Given the description of an element on the screen output the (x, y) to click on. 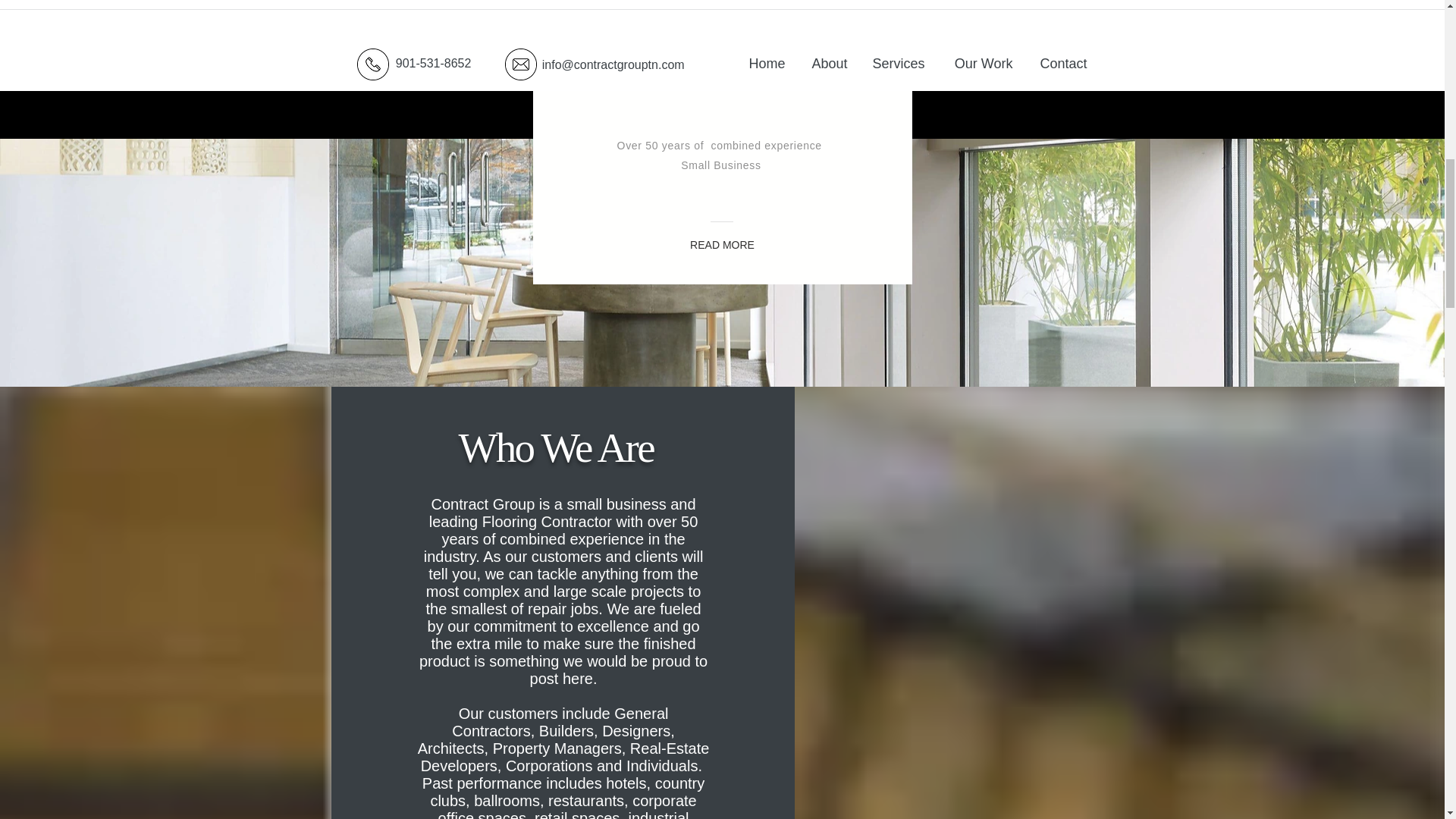
Who We Are (555, 447)
READ MORE (722, 245)
